Given the description of an element on the screen output the (x, y) to click on. 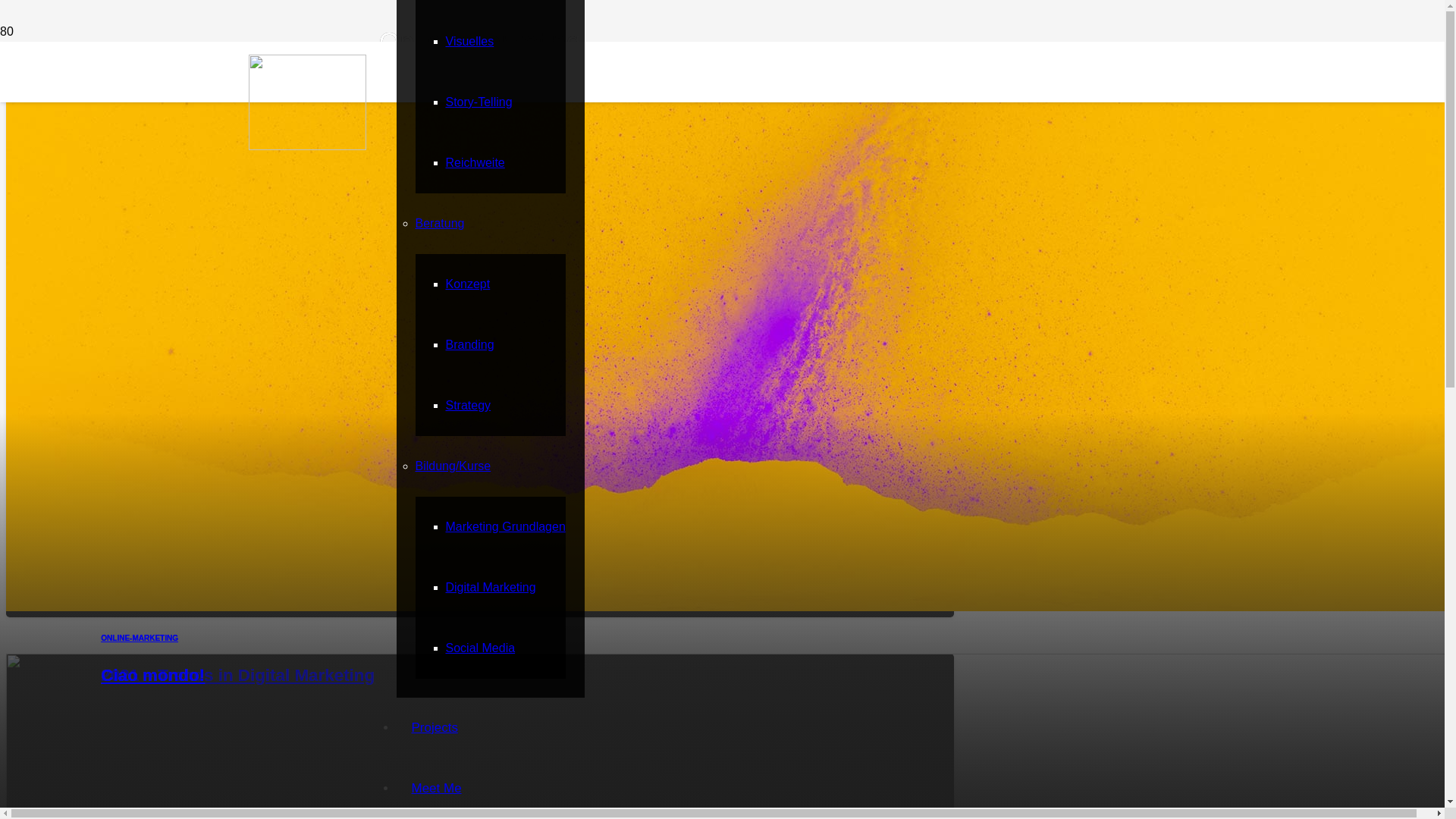
Meet Me Element type: text (435, 788)
Branding Element type: text (469, 344)
Projects Element type: text (433, 727)
ONLINE-MARKETING Element type: text (139, 637)
Marketing Grundlagen Element type: text (505, 526)
Ciao mondo! Element type: text (152, 674)
Konzept Element type: text (467, 283)
Visuelles Element type: text (469, 40)
Reichweite Element type: text (475, 162)
Beratung Element type: text (439, 222)
Strategy Element type: text (468, 404)
Social Media Element type: text (480, 647)
Story-Telling Element type: text (478, 101)
Bildung/Kurse Element type: text (453, 465)
Digital Marketing Element type: text (490, 586)
